Given the description of an element on the screen output the (x, y) to click on. 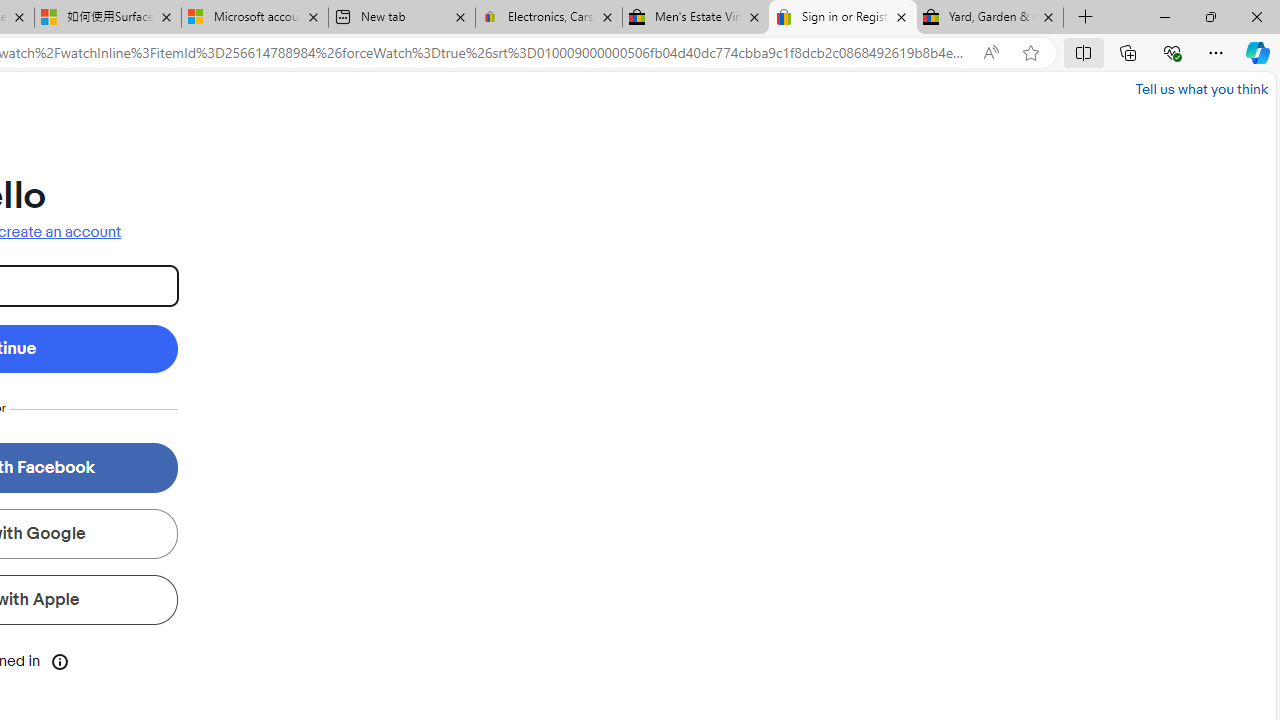
Yard, Garden & Outdoor Living (989, 17)
Sign in or Register | eBay (843, 17)
Class: icon-btn tooltip__host icon-btn--transparent (59, 660)
